Given the description of an element on the screen output the (x, y) to click on. 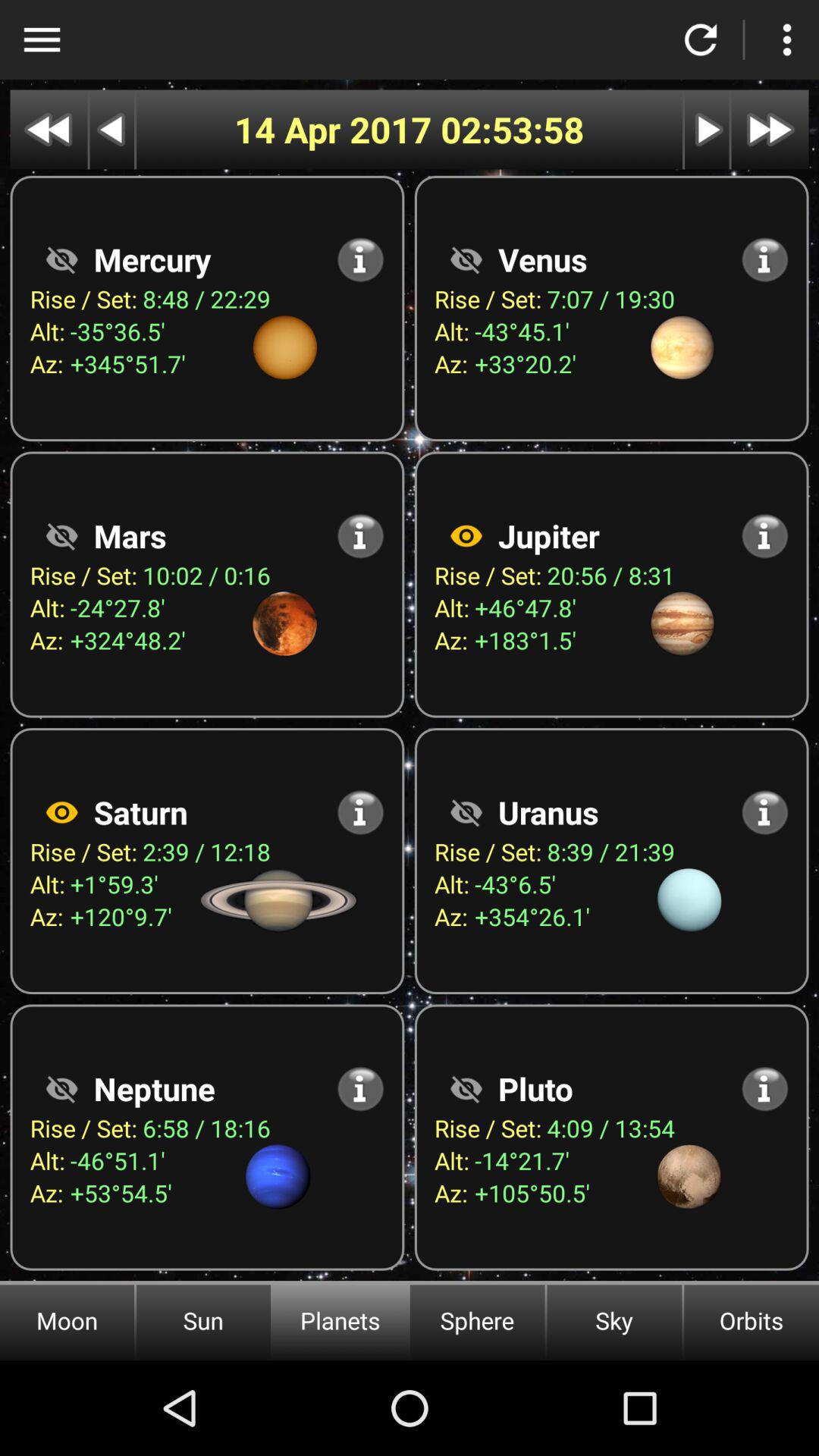
open information about jupiter (764, 536)
